Given the description of an element on the screen output the (x, y) to click on. 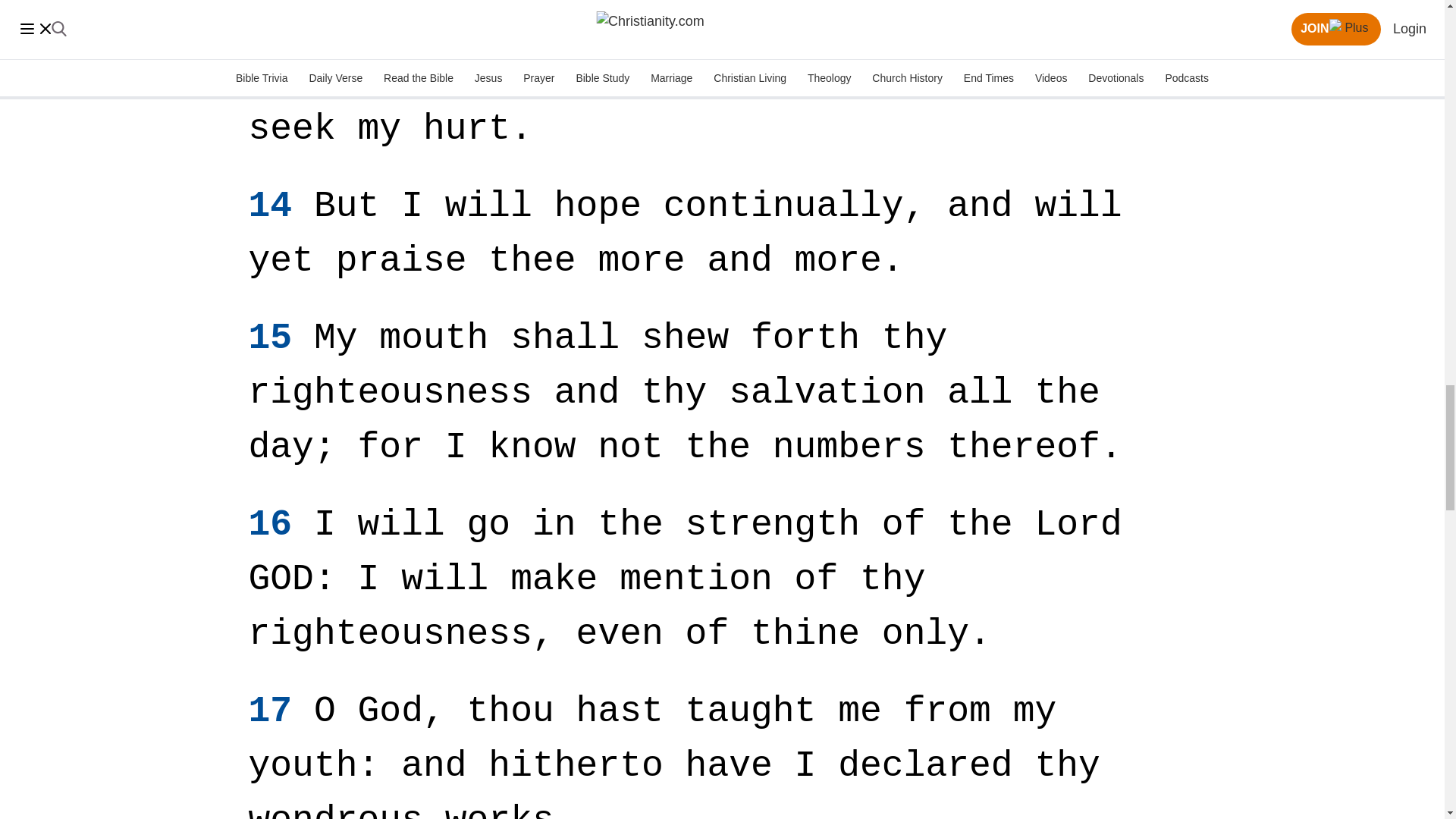
Psalms 71:15 (270, 337)
Psalms 71:17 (270, 711)
Psalms 71:16 (270, 524)
Psalms 71:14 (270, 205)
